Given the description of an element on the screen output the (x, y) to click on. 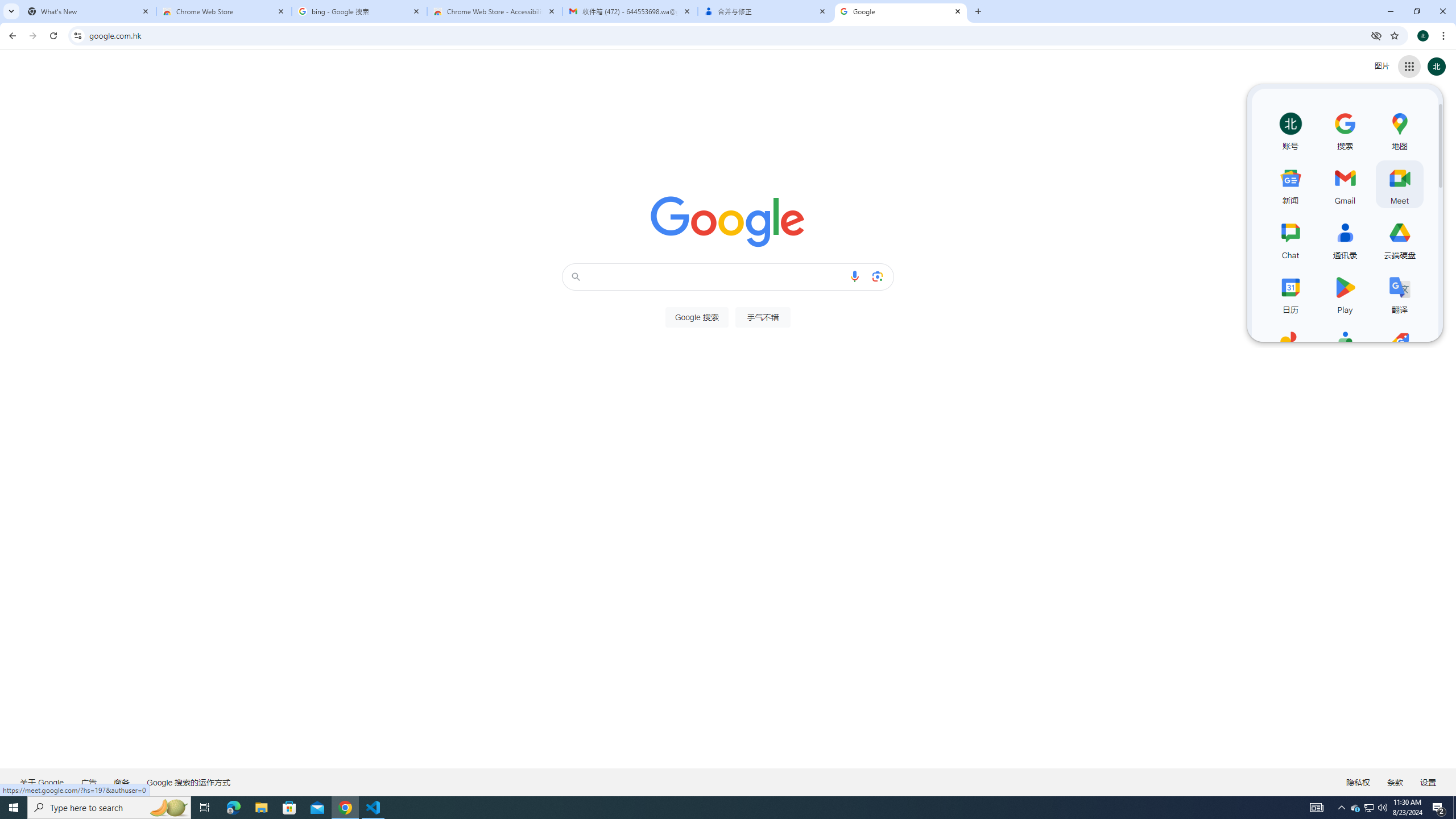
Chrome Web Store - Accessibility (494, 11)
Google (901, 11)
